Given the description of an element on the screen output the (x, y) to click on. 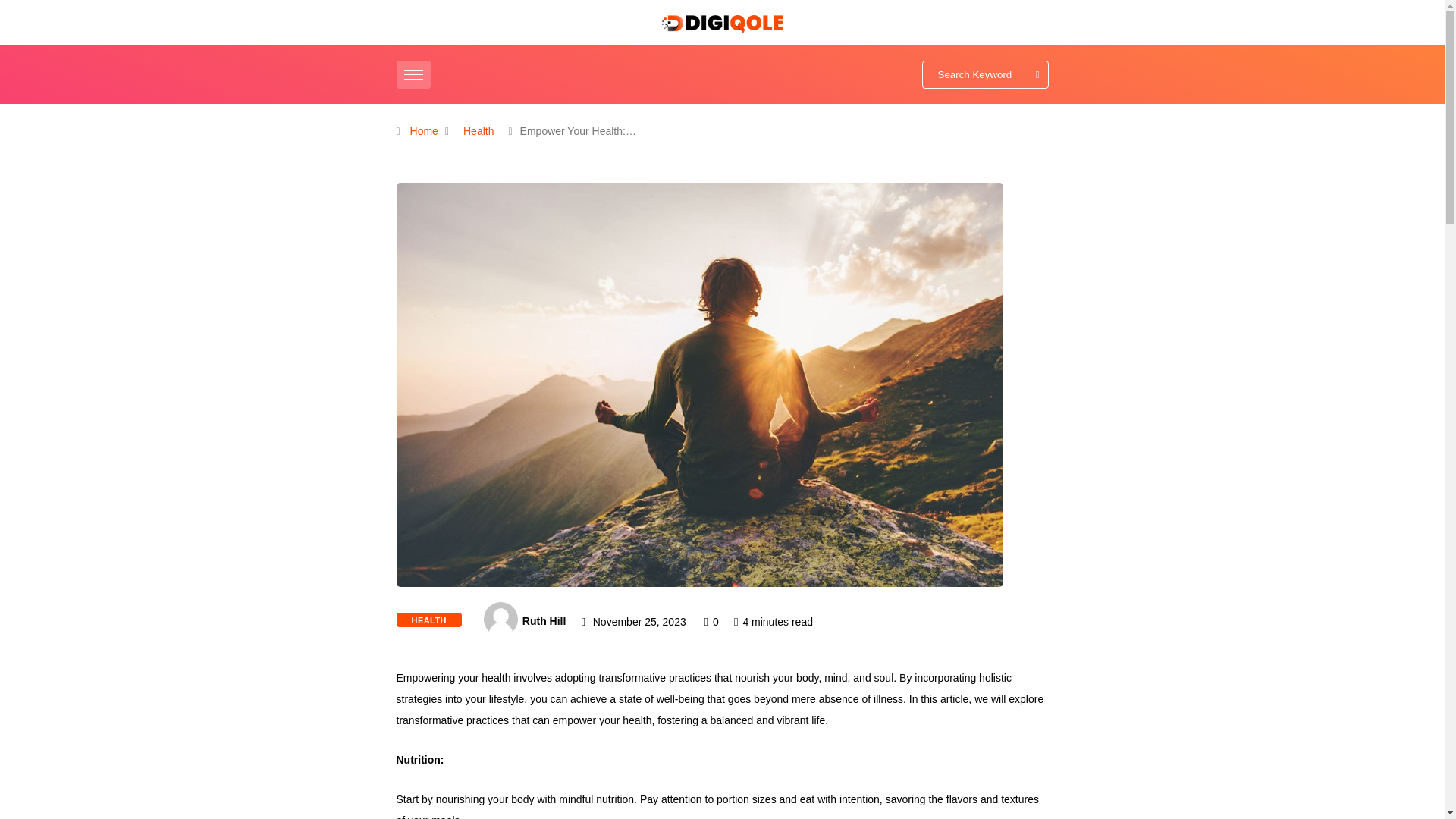
HEALTH (428, 619)
Ruth Hill (544, 621)
Health (478, 131)
Home (424, 131)
